Given the description of an element on the screen output the (x, y) to click on. 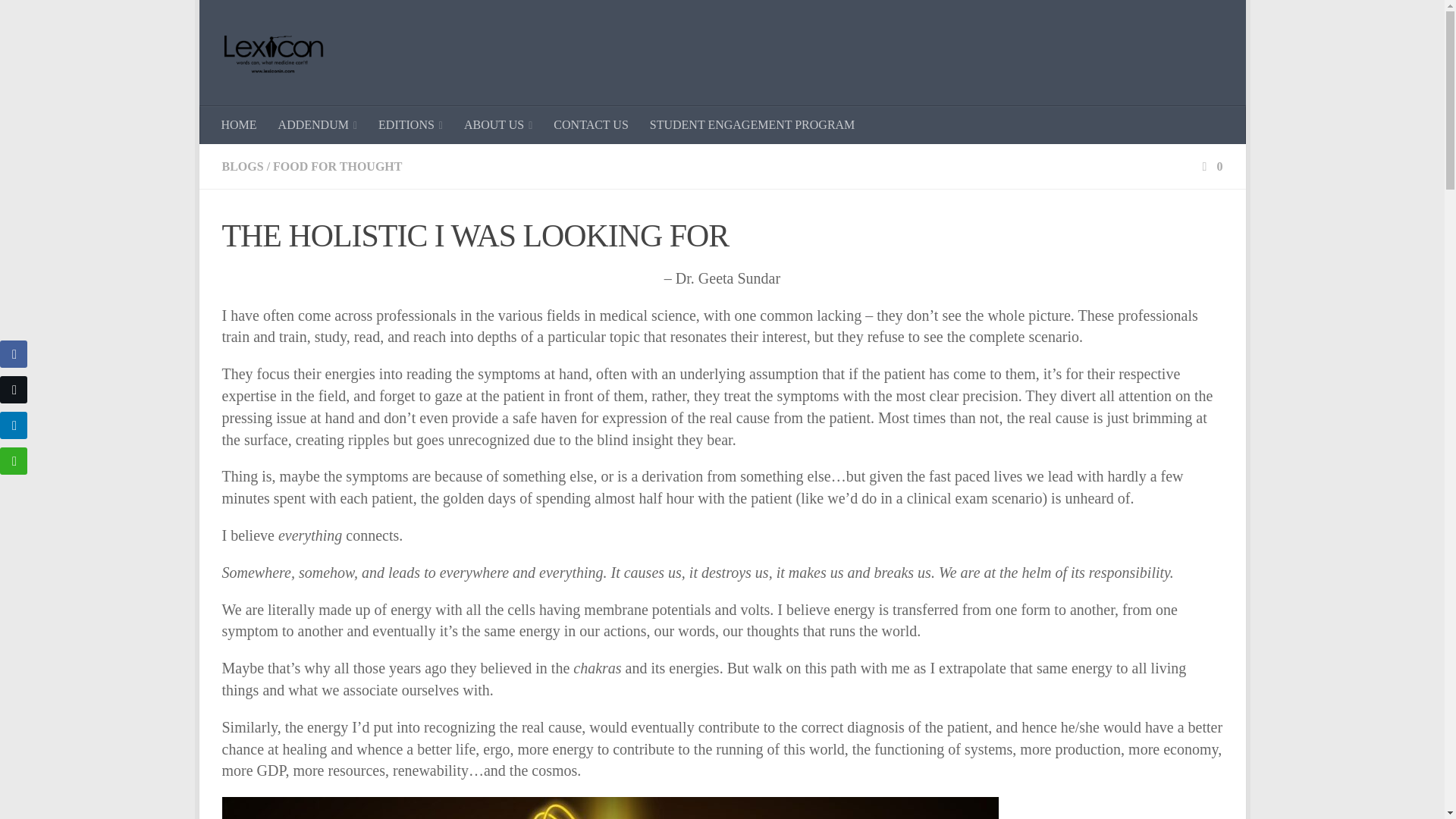
STUDENT ENGAGEMENT PROGRAM (752, 125)
BLOGS (242, 165)
ABOUT US (497, 125)
ADDENDUM (317, 125)
Skip to content (258, 20)
FOOD FOR THOUGHT (337, 165)
HOME (239, 125)
CONTACT US (591, 125)
EDITIONS (410, 125)
0 (1210, 165)
